Given the description of an element on the screen output the (x, y) to click on. 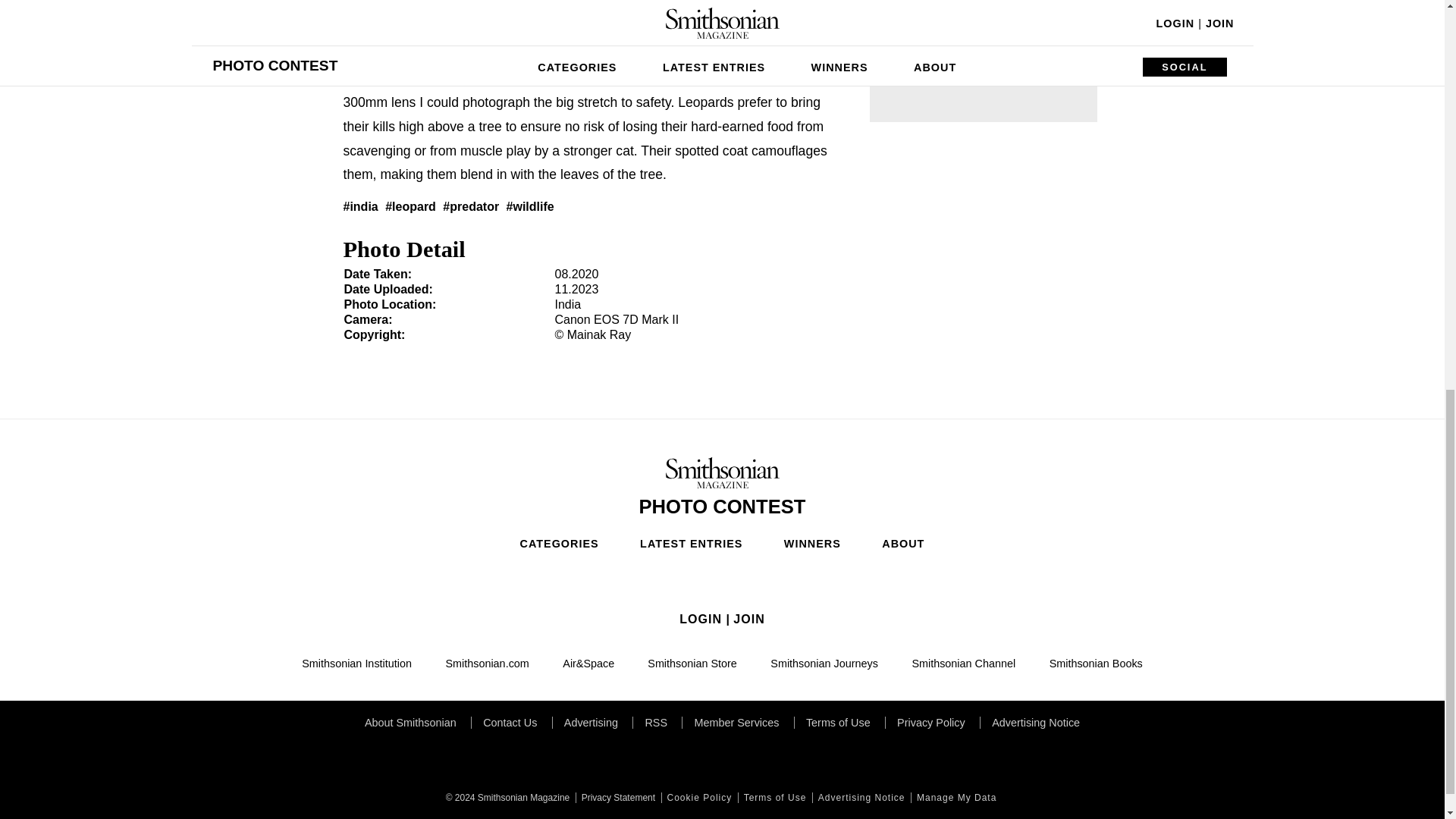
Advertising Notice (859, 797)
Privacy Statement (616, 797)
Terms of Use (773, 797)
Manage My Data (954, 797)
Cookie Policy (698, 797)
